Given the description of an element on the screen output the (x, y) to click on. 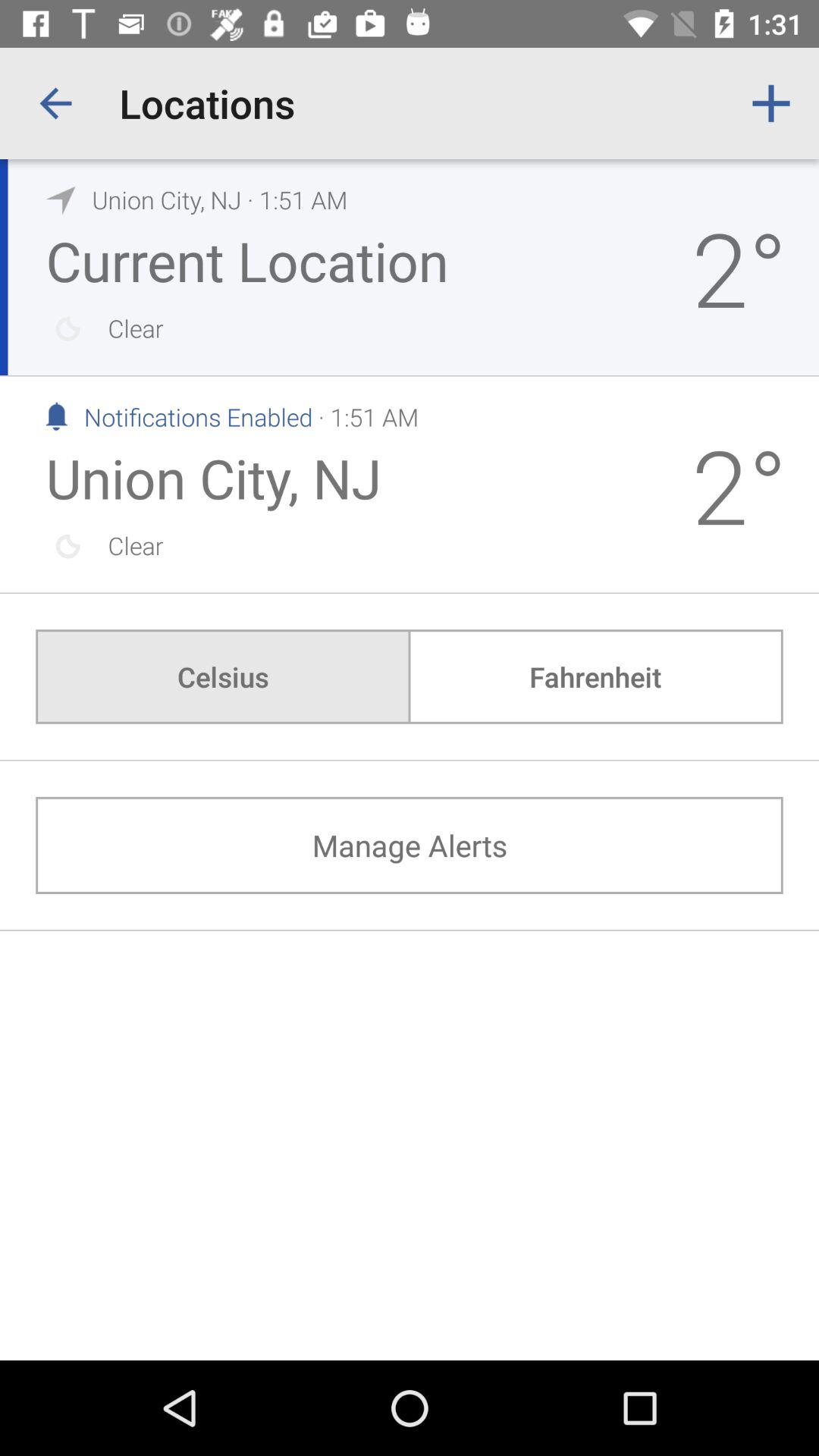
turn on item above the manage alerts item (595, 676)
